Given the description of an element on the screen output the (x, y) to click on. 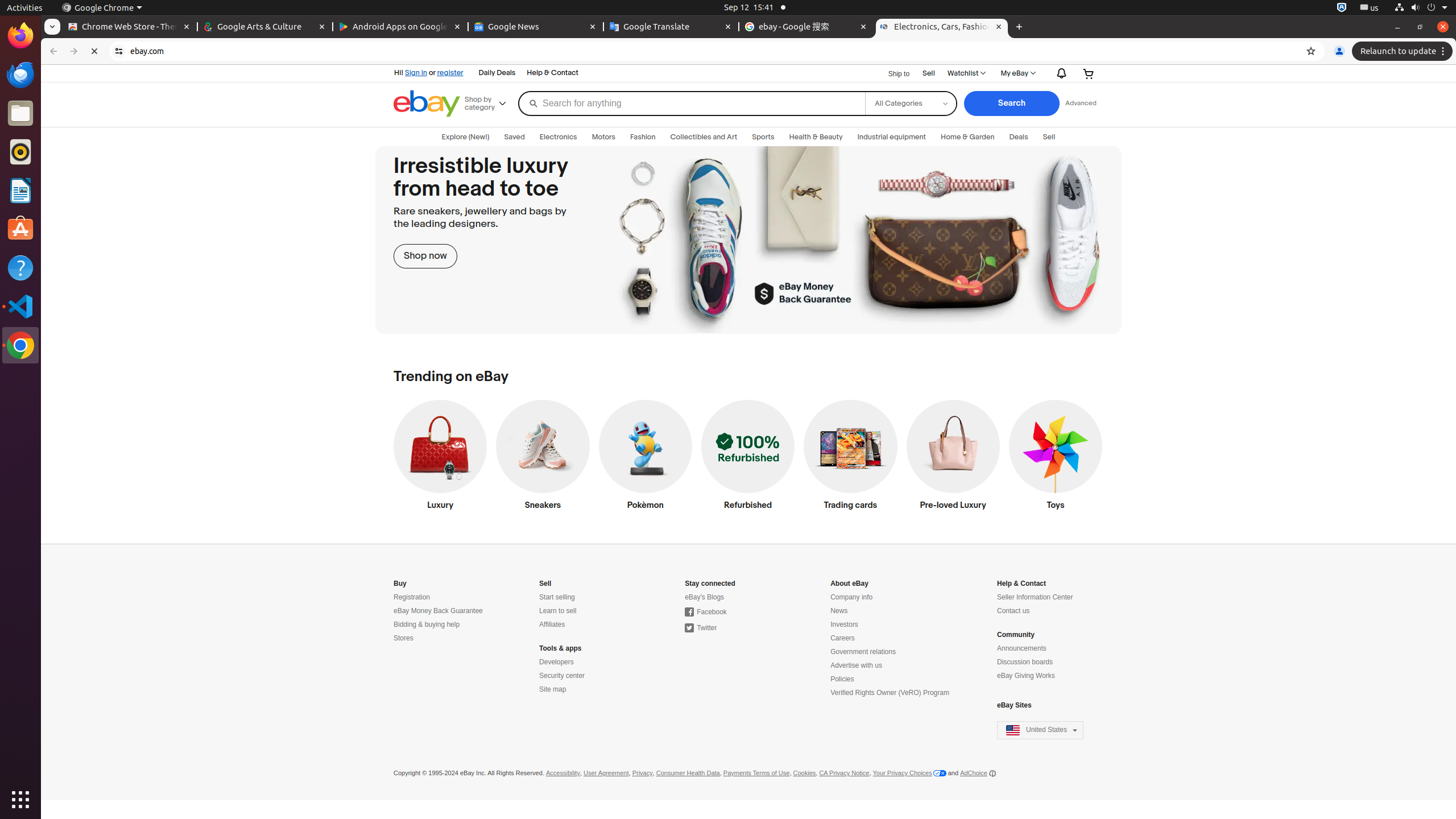
Fashion Element type: link (642, 136)
Policies Element type: link (842, 679)
Motors Element type: link (603, 136)
New Tab Element type: push-button (1019, 26)
Luxury Element type: link (440, 457)
